Given the description of an element on the screen output the (x, y) to click on. 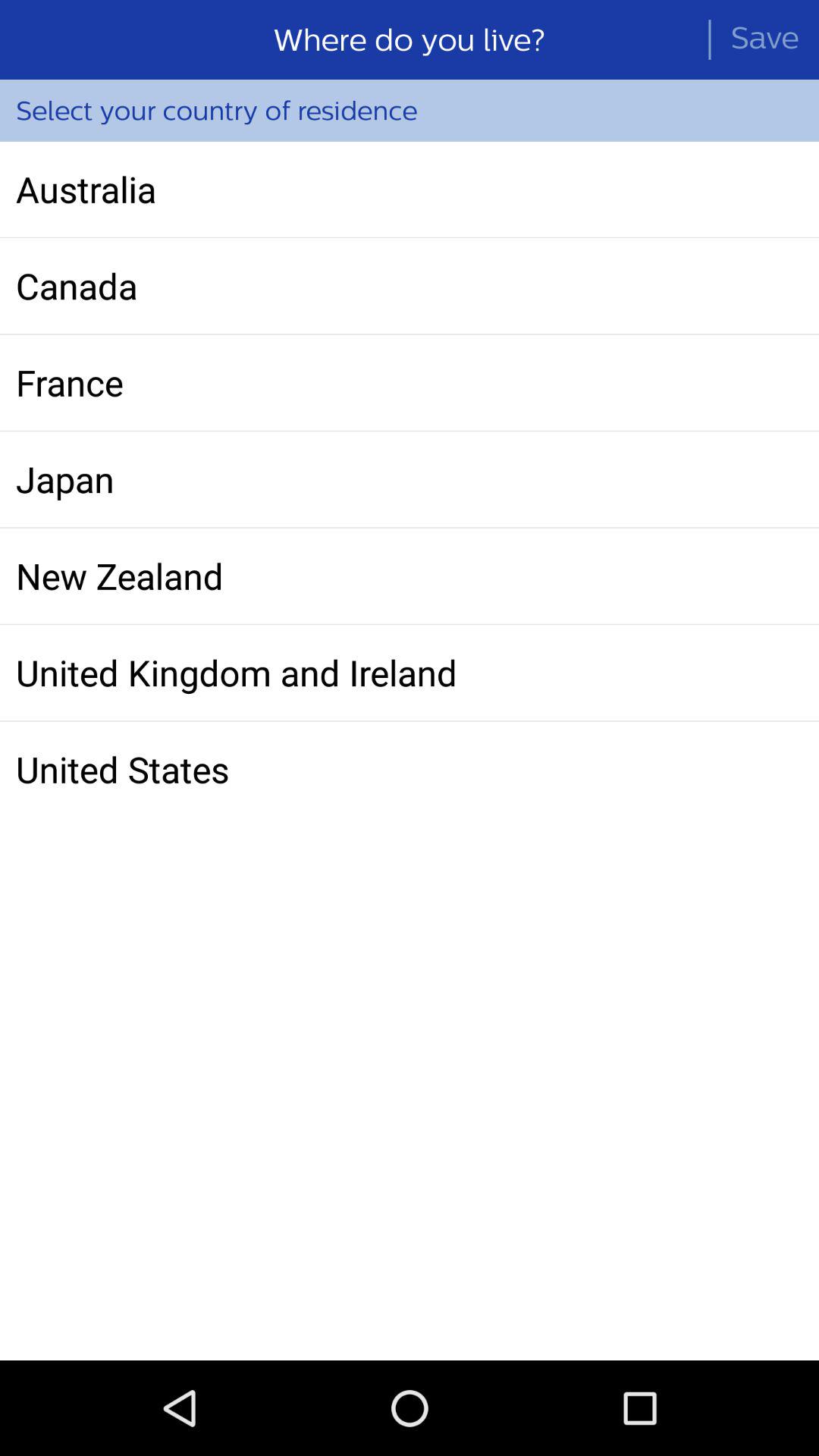
select the france app (409, 382)
